Given the description of an element on the screen output the (x, y) to click on. 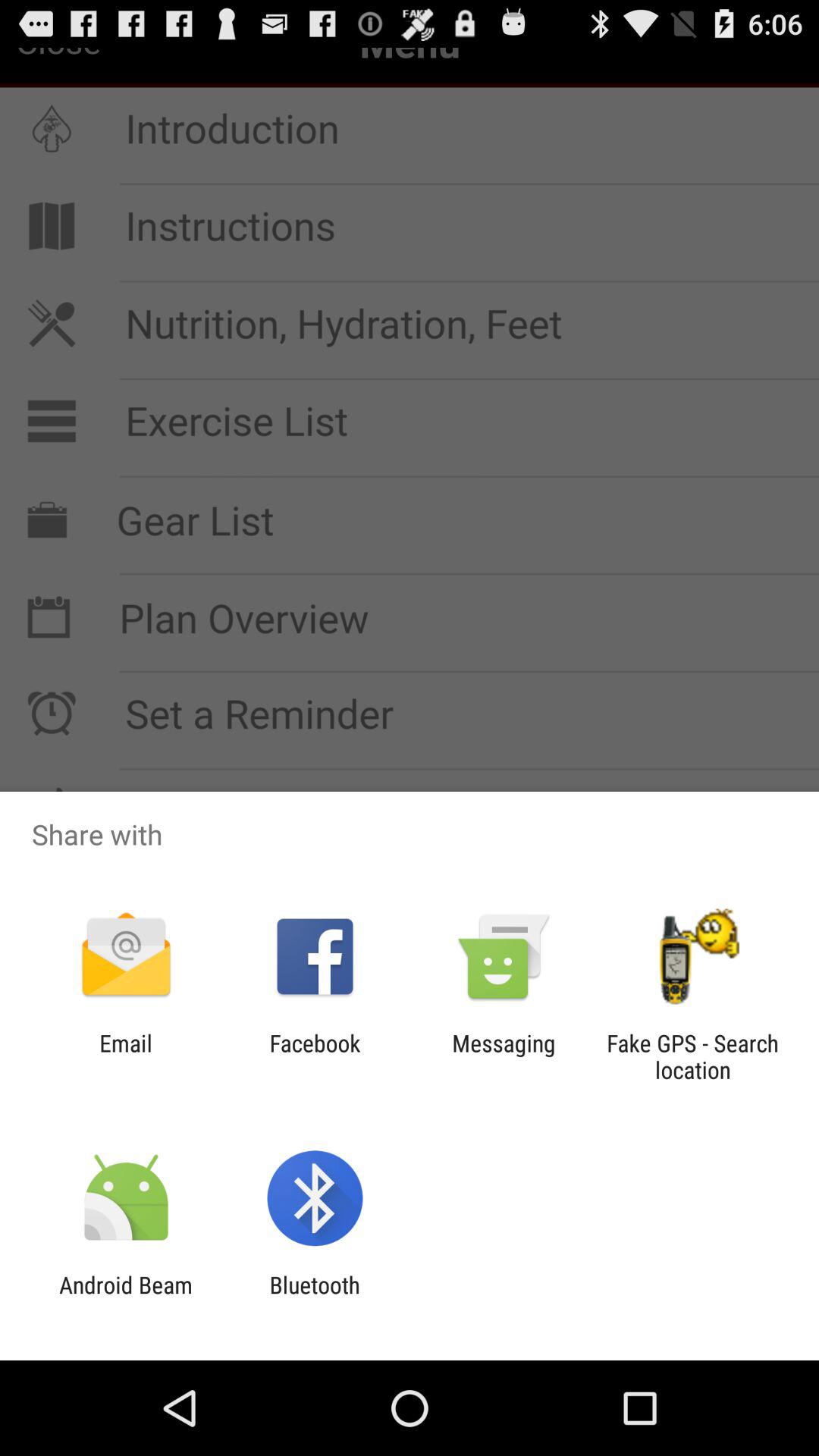
open item next to the fake gps search (503, 1056)
